Given the description of an element on the screen output the (x, y) to click on. 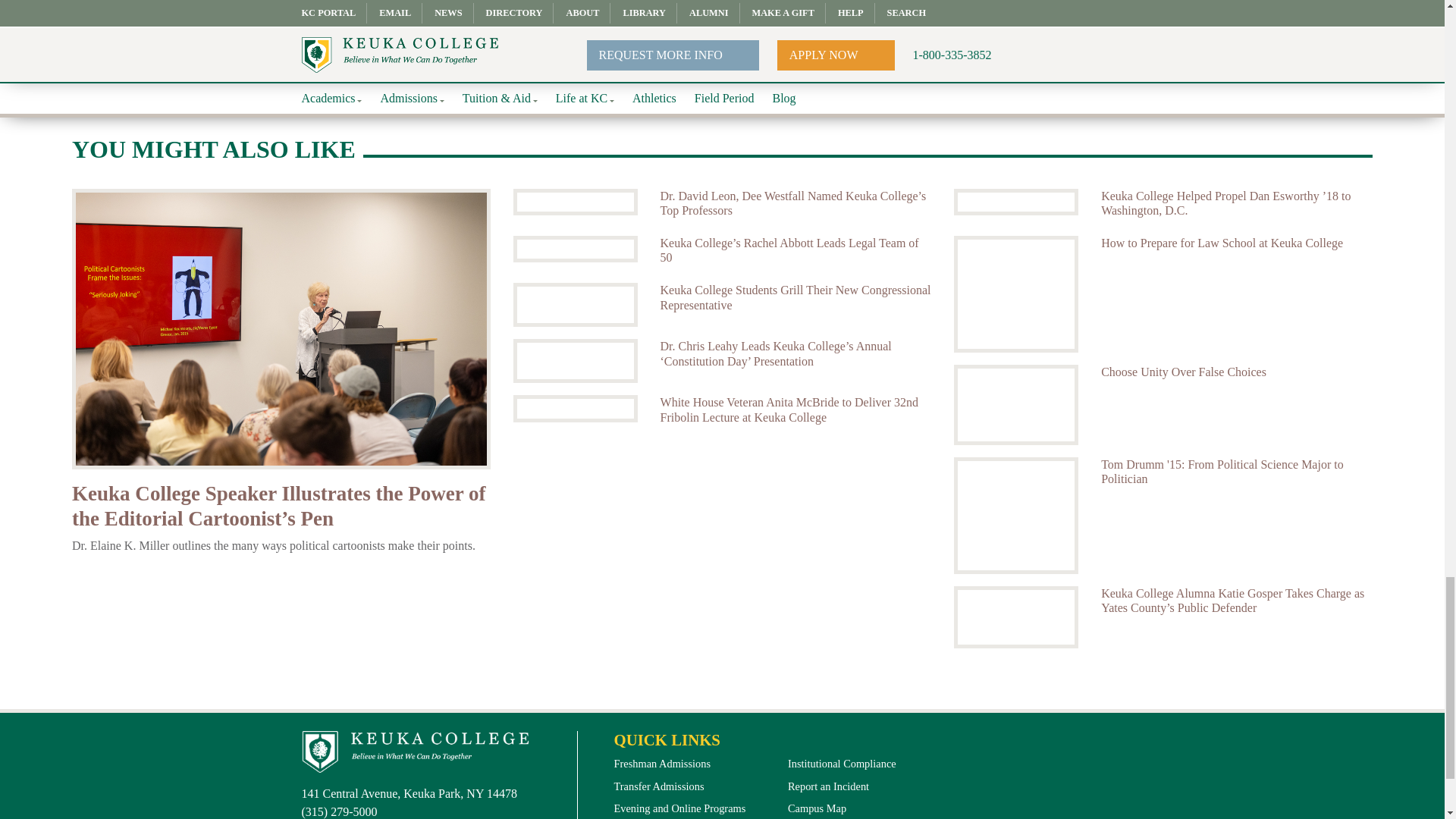
How to Prepare for Law School at Keuka College (1015, 293)
How to Prepare for Law School at Keuka College (1236, 242)
Choose Unity Over False Choices (1015, 404)
Tom Drumm '15: From Political Science Major to Politician (1236, 471)
Choose Unity Over False Choices (1236, 371)
Tom Drumm '15: From Political Science Major to Politician (1015, 515)
